Given the description of an element on the screen output the (x, y) to click on. 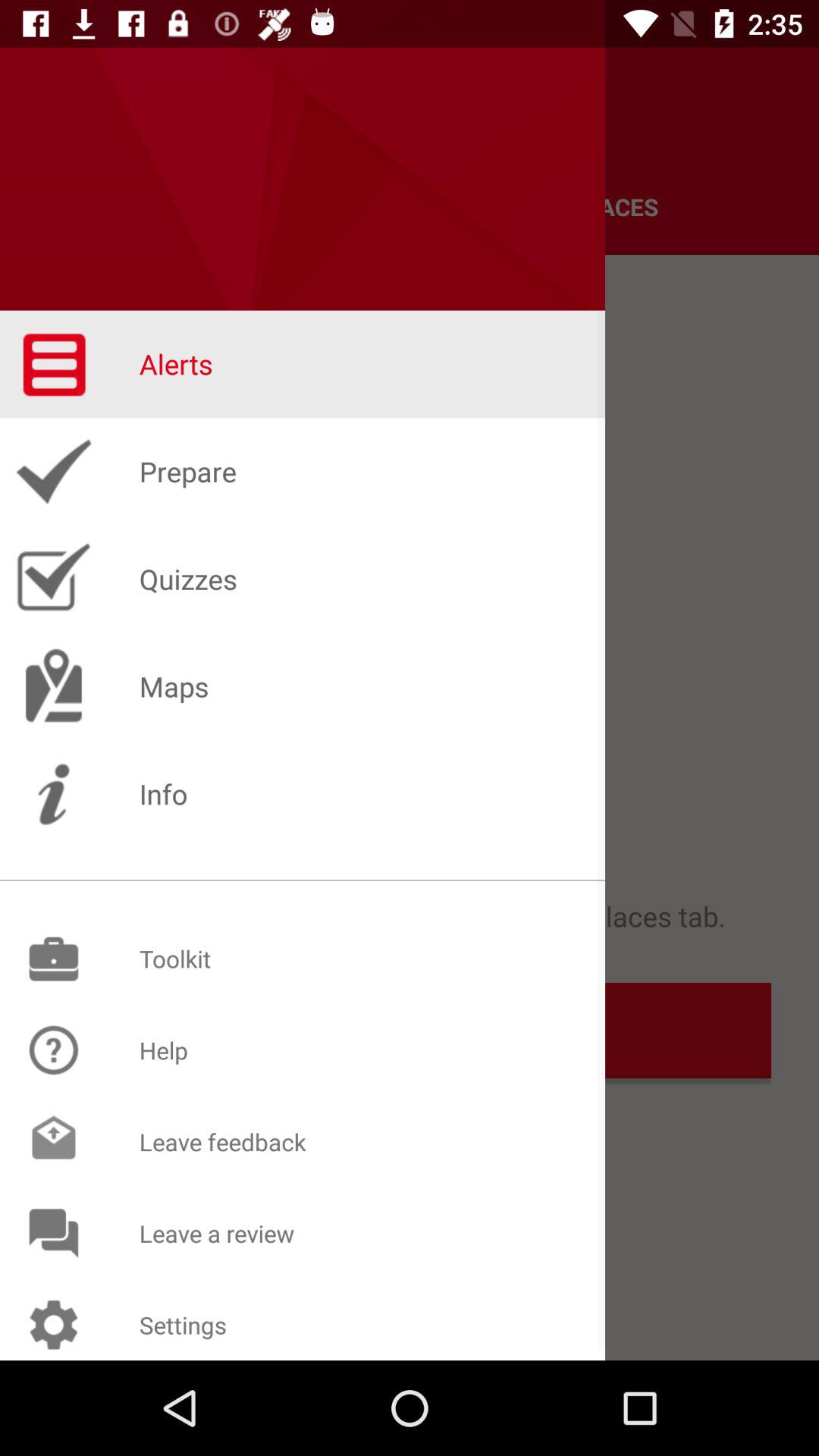
click on the leave a review icon (53, 1233)
